Given the description of an element on the screen output the (x, y) to click on. 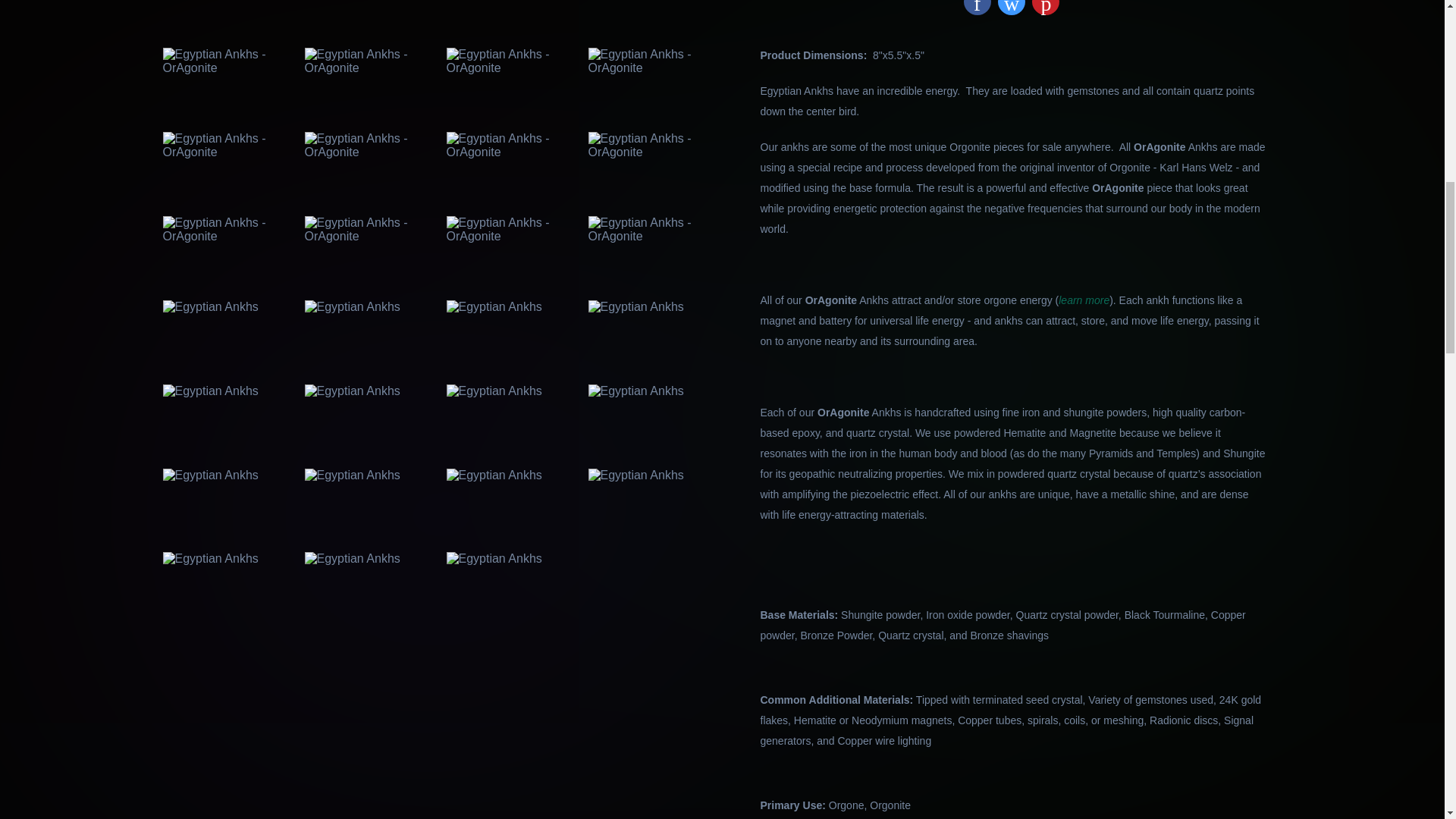
Share on Facebook (977, 7)
Share on Pinterest (1045, 7)
Share on Twitter (1011, 7)
